Given the description of an element on the screen output the (x, y) to click on. 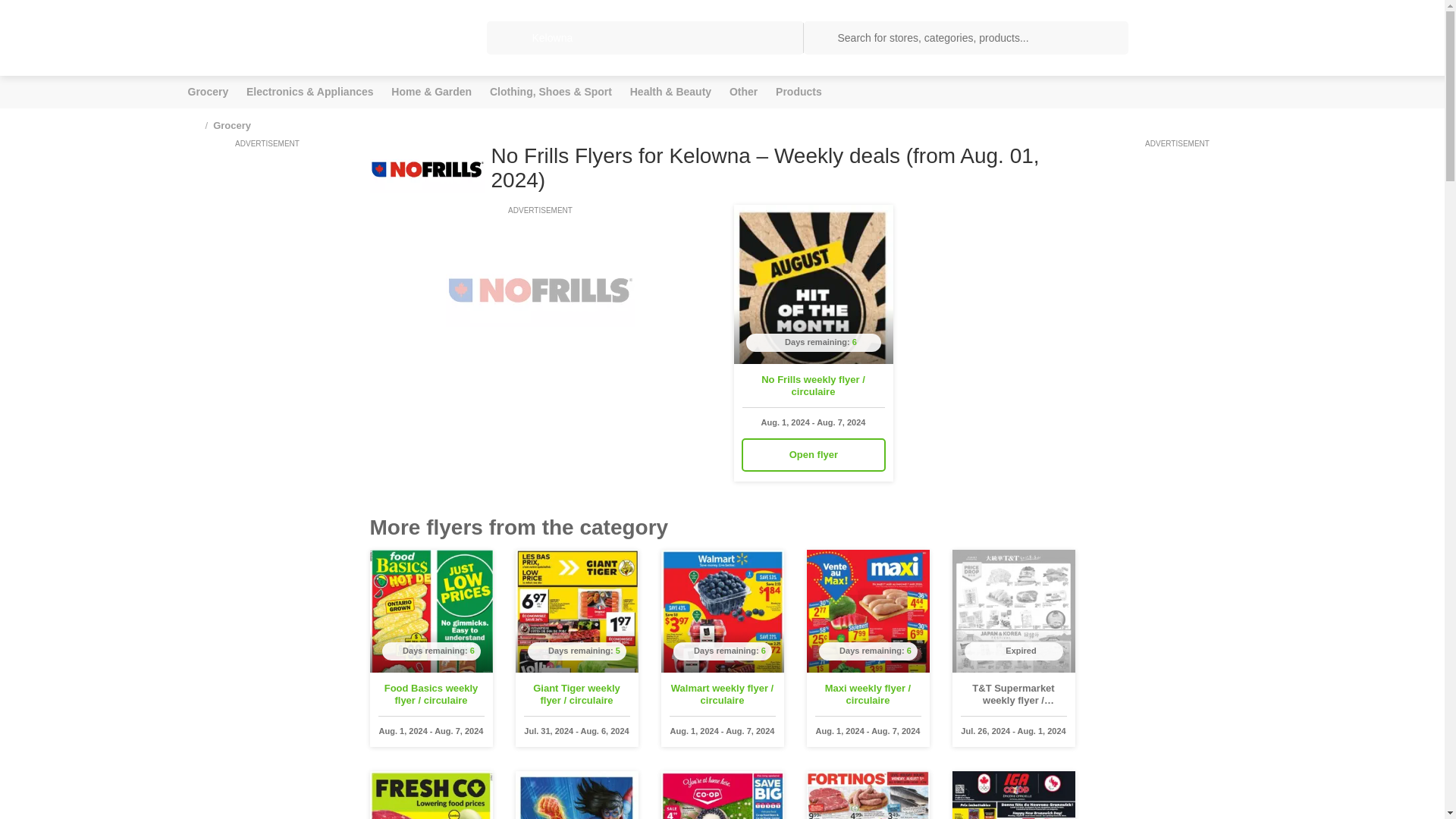
Search for stores, categories, products... (964, 37)
Advertisement (540, 322)
Grocery (231, 125)
Open flyer (813, 454)
Grocery (207, 92)
Logo No Frills (426, 168)
Products (799, 92)
